Given the description of an element on the screen output the (x, y) to click on. 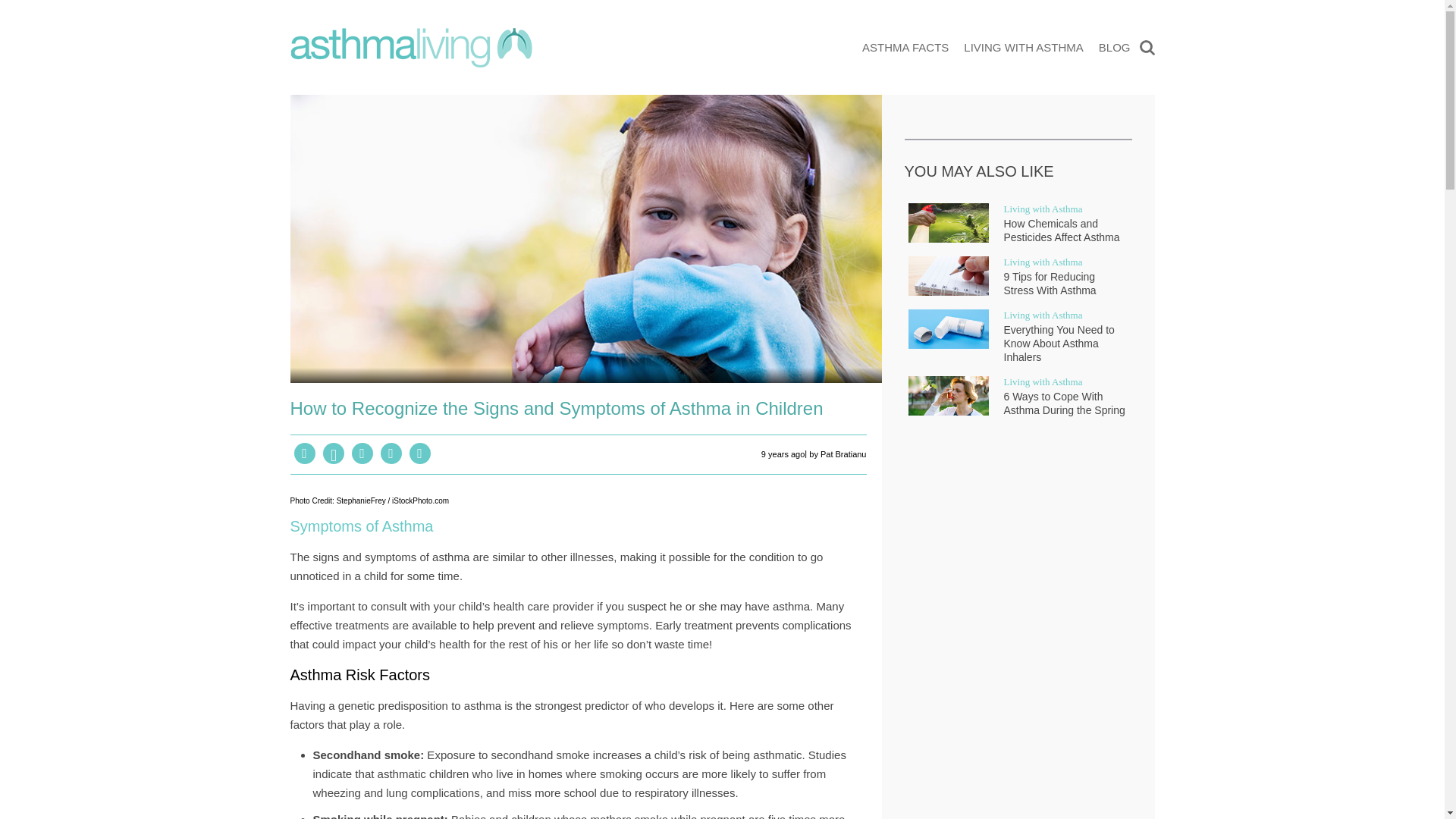
AsthmaLiving.today (410, 47)
Messenger (362, 453)
Email (419, 453)
StephanieFrey (360, 500)
BLOG (1115, 47)
Pinterest (333, 453)
ASTHMA FACTS (905, 47)
iStockPhoto.com (419, 500)
LIVING WITH ASTHMA (1023, 47)
Twitter (390, 453)
